Given the description of an element on the screen output the (x, y) to click on. 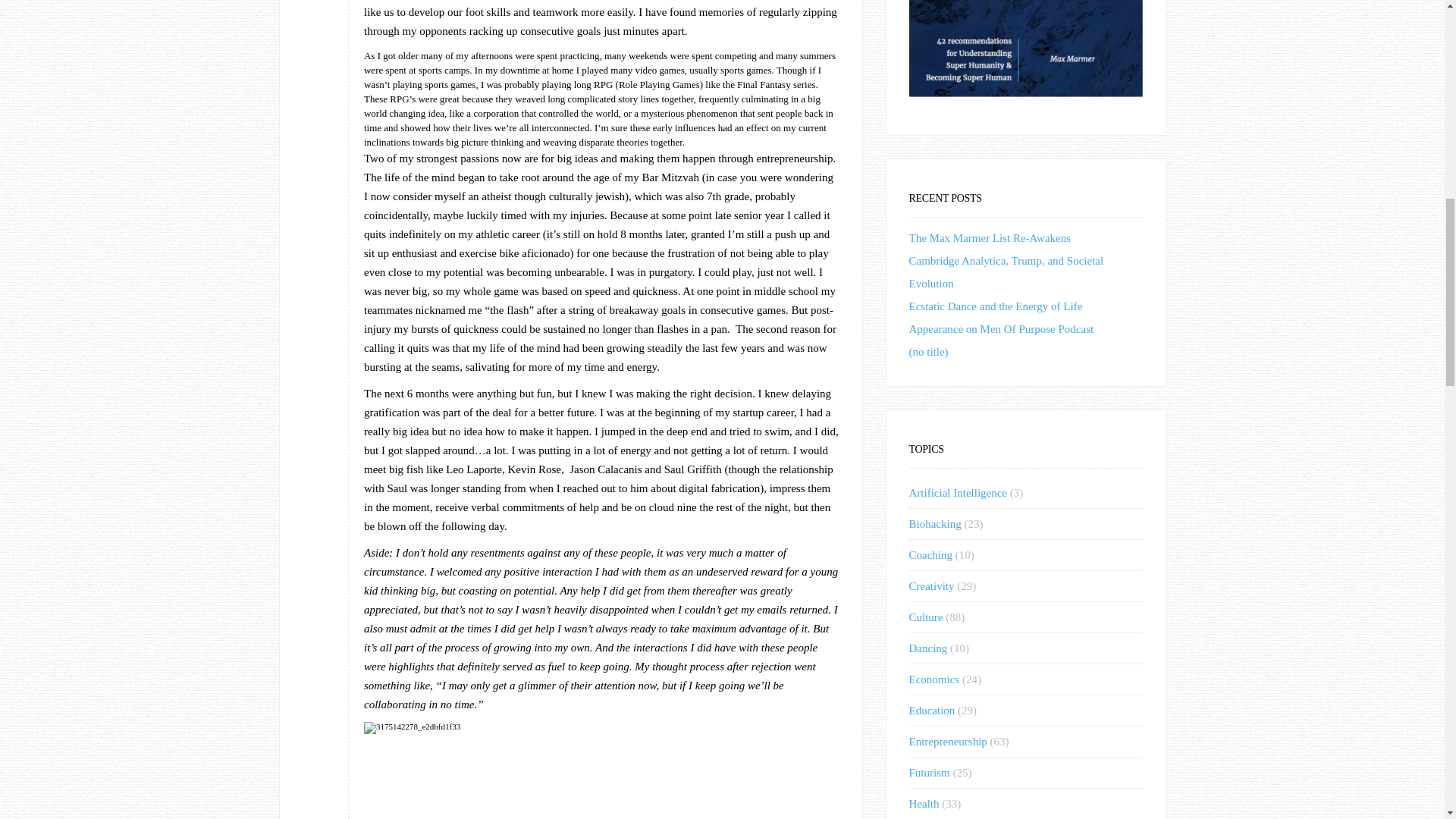
Economics (933, 679)
Artificial Intelligence (957, 492)
Cambridge Analytica, Trump, and Societal Evolution (1005, 271)
Dancing (927, 648)
Coaching (930, 554)
Ecstatic Dance and the Energy of Life (994, 306)
The Max Marmer List Re-Awakens (989, 237)
Biohacking (934, 523)
Culture (925, 616)
Creativity (930, 585)
Appearance on Men Of Purpose Podcast (1000, 328)
